Given the description of an element on the screen output the (x, y) to click on. 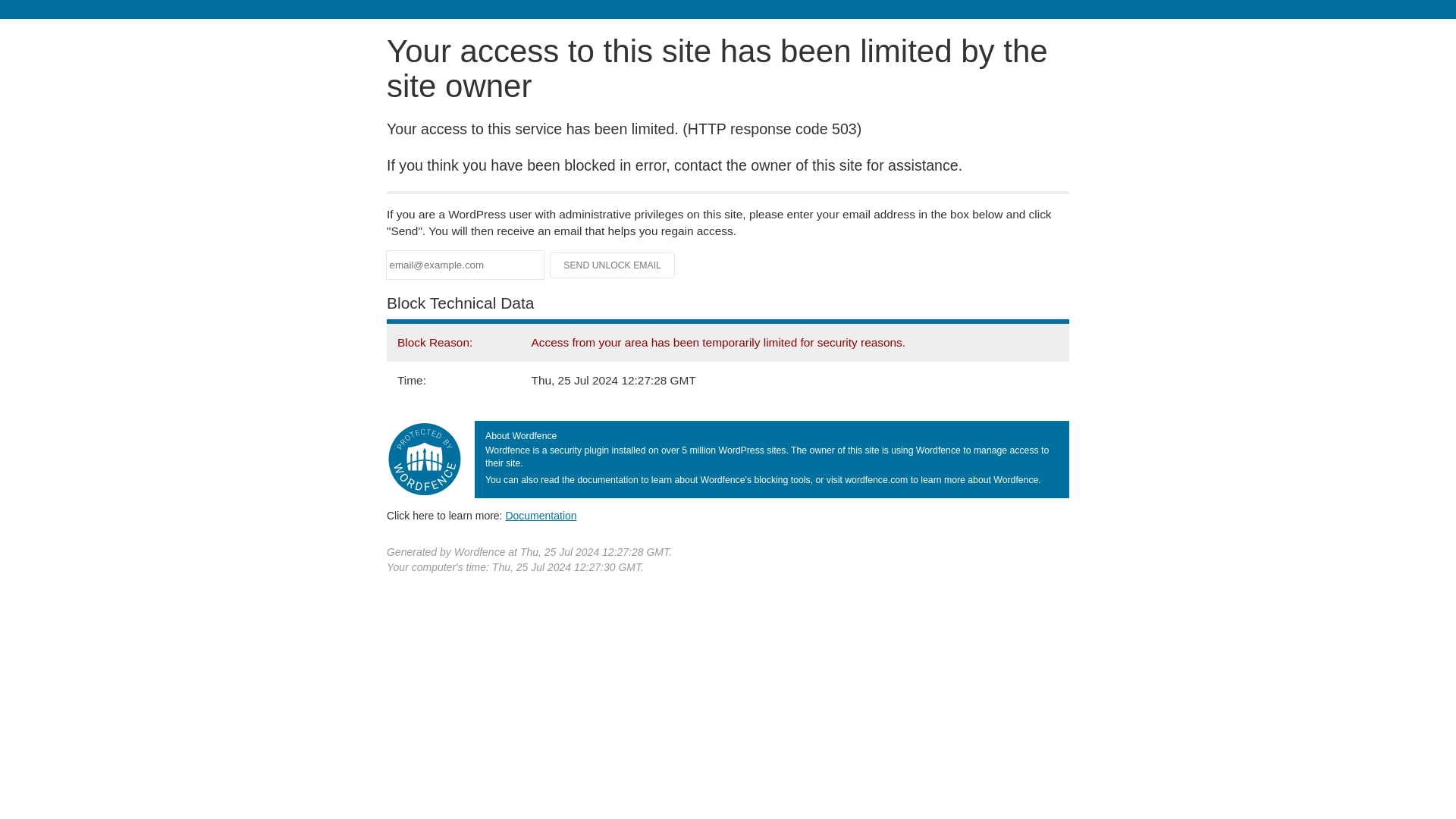
Send Unlock Email (612, 265)
Documentation (540, 515)
Send Unlock Email (612, 265)
